Given the description of an element on the screen output the (x, y) to click on. 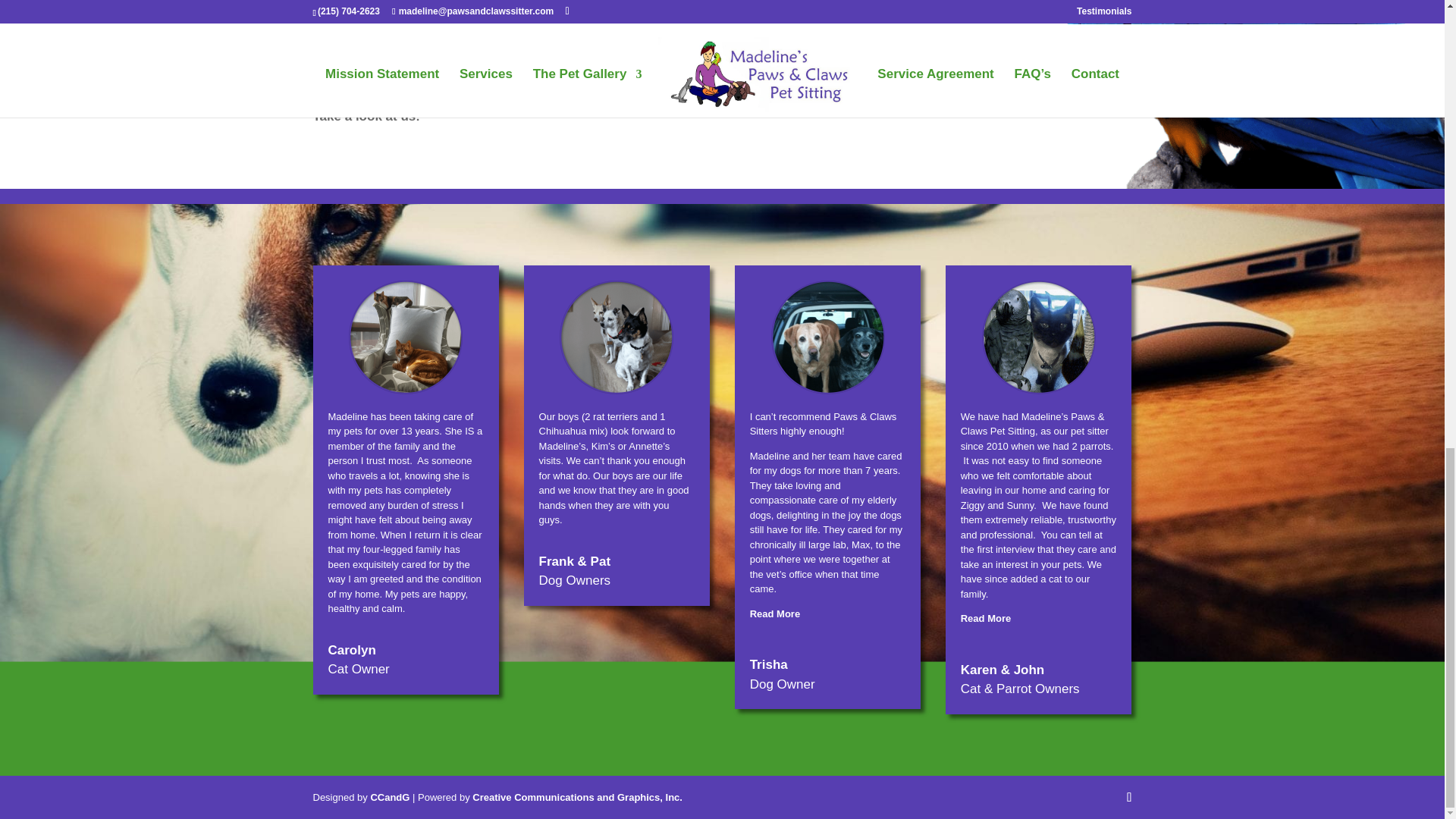
National Association of Professional Pet Sitters (495, 18)
Facebook (638, 62)
Pet Sitters International (444, 29)
Creative Communications and Graphics, Inc. (576, 796)
CCandG (389, 796)
Read More (774, 613)
...smarter for your business (389, 796)
Read More (985, 618)
